Given the description of an element on the screen output the (x, y) to click on. 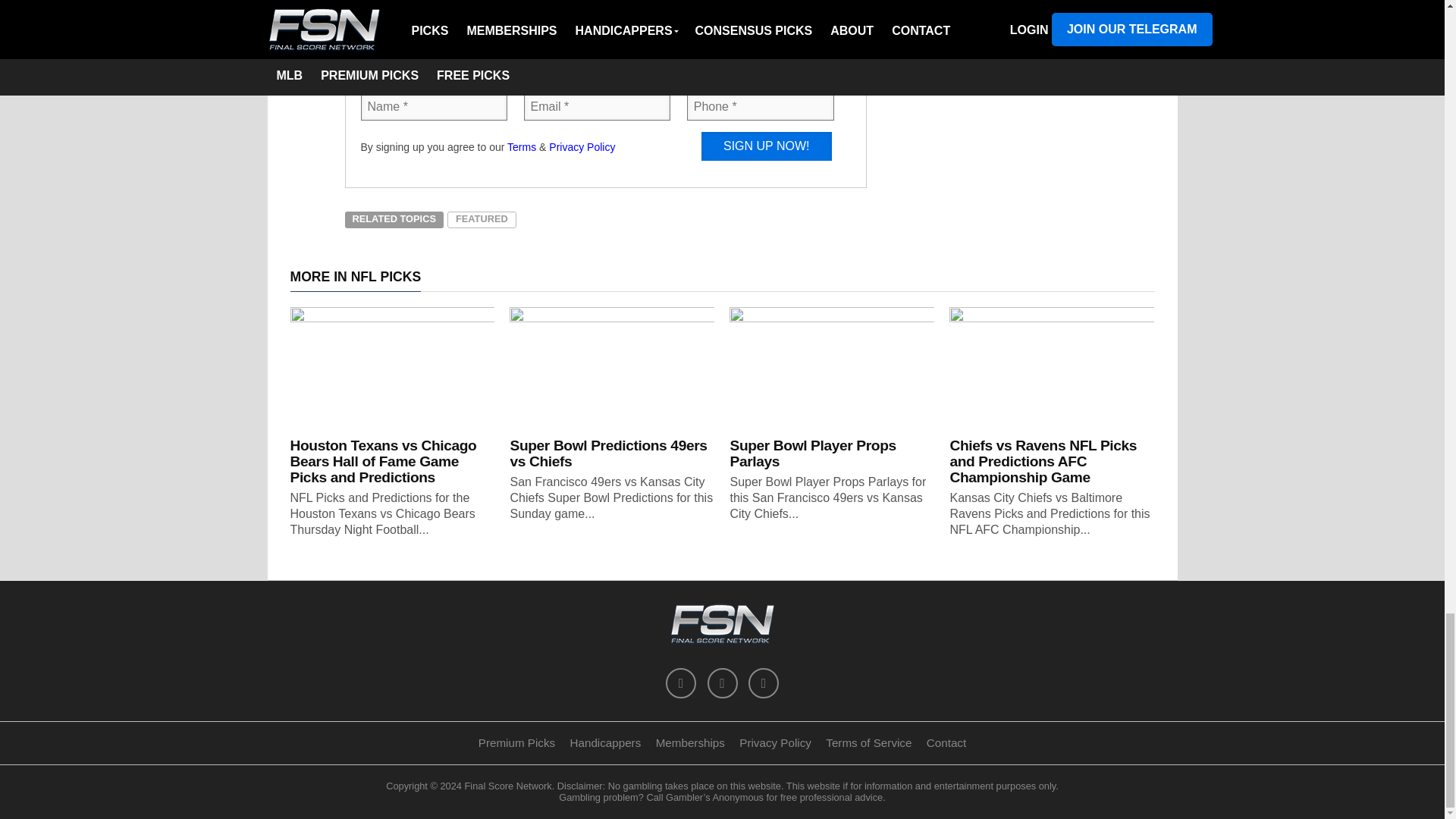
SIGN UP NOW! (766, 145)
